Given the description of an element on the screen output the (x, y) to click on. 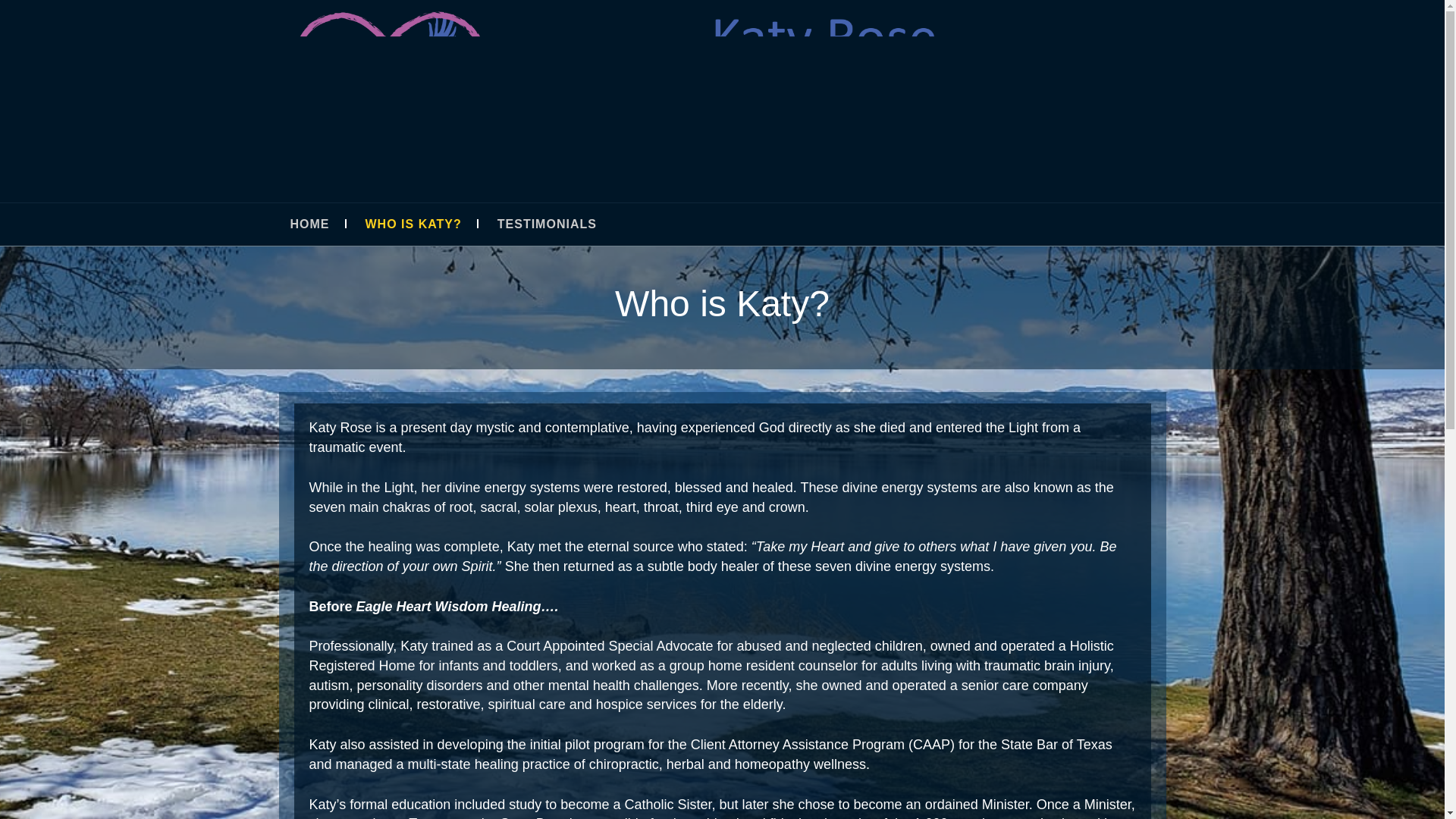
HOME (325, 224)
WHO IS KATY? (429, 224)
EAGLE HEART WISDOM HEALING LLC (713, 211)
TESTIMONIALS (562, 224)
home (713, 211)
